Given the description of an element on the screen output the (x, y) to click on. 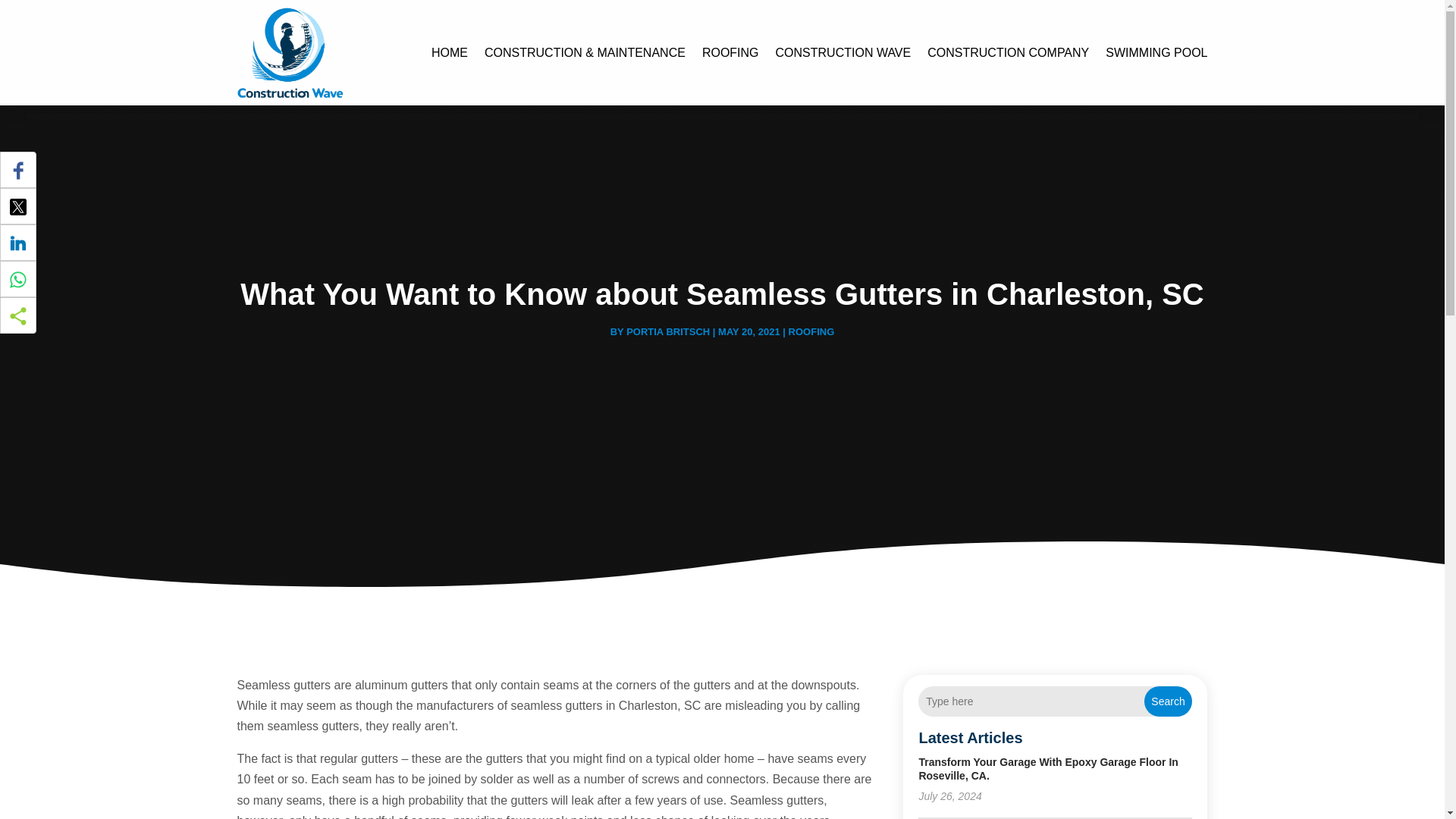
Search (1168, 701)
CONSTRUCTION WAVE (843, 52)
SWIMMING POOL (1156, 52)
ROOFING (811, 331)
Posts by portia britsch (668, 331)
CONSTRUCTION COMPANY (1008, 52)
PORTIA BRITSCH (668, 331)
